Given the description of an element on the screen output the (x, y) to click on. 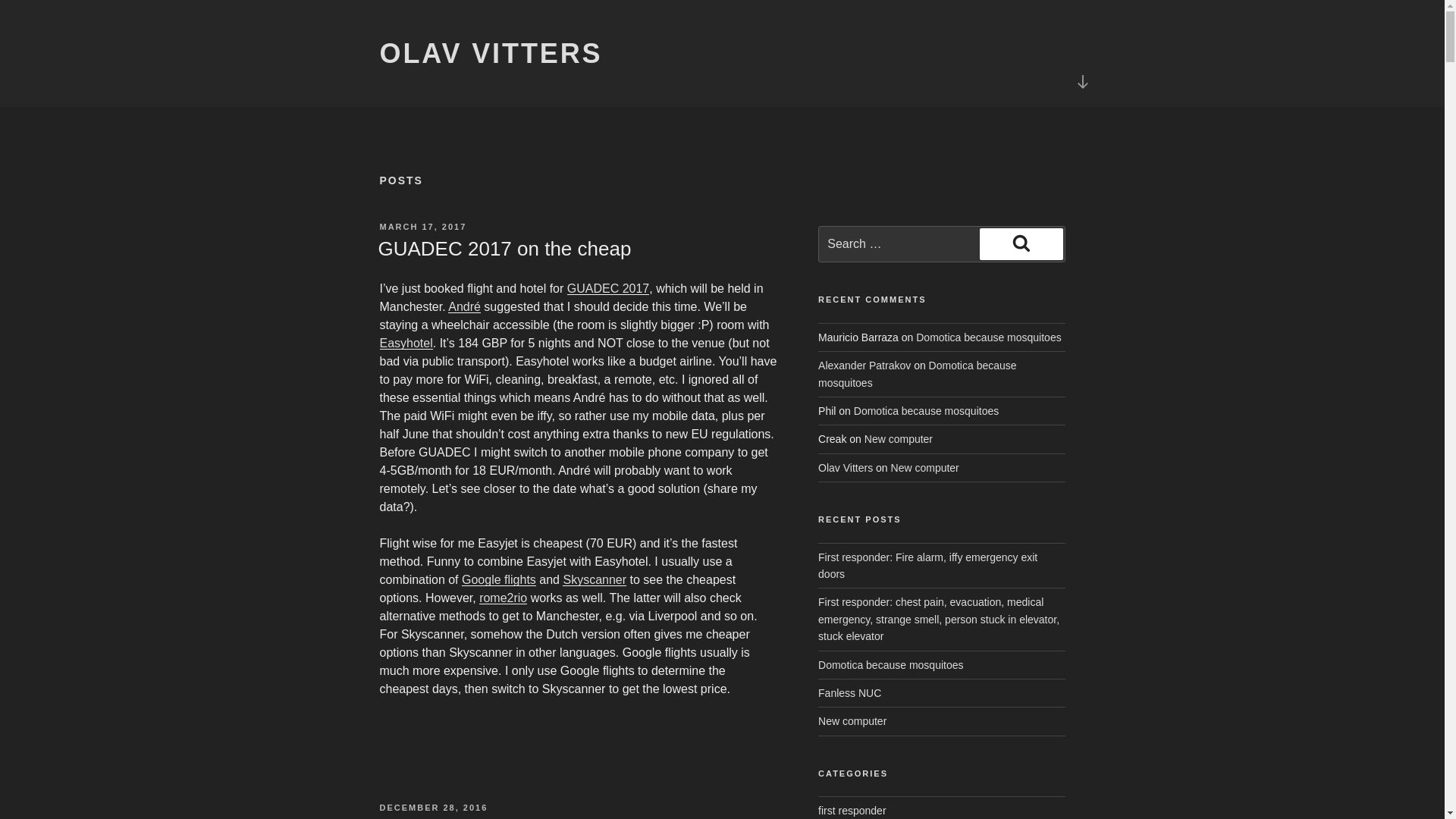
Scroll down to content (1081, 81)
MARCH 17, 2017 (421, 225)
GUADEC 2017 on the cheap (503, 248)
OLAV VITTERS (490, 52)
Easyhotel (405, 342)
Skyscanner (594, 579)
GUADEC 2017 (608, 287)
rome2rio (503, 597)
Google flights (498, 579)
